Given the description of an element on the screen output the (x, y) to click on. 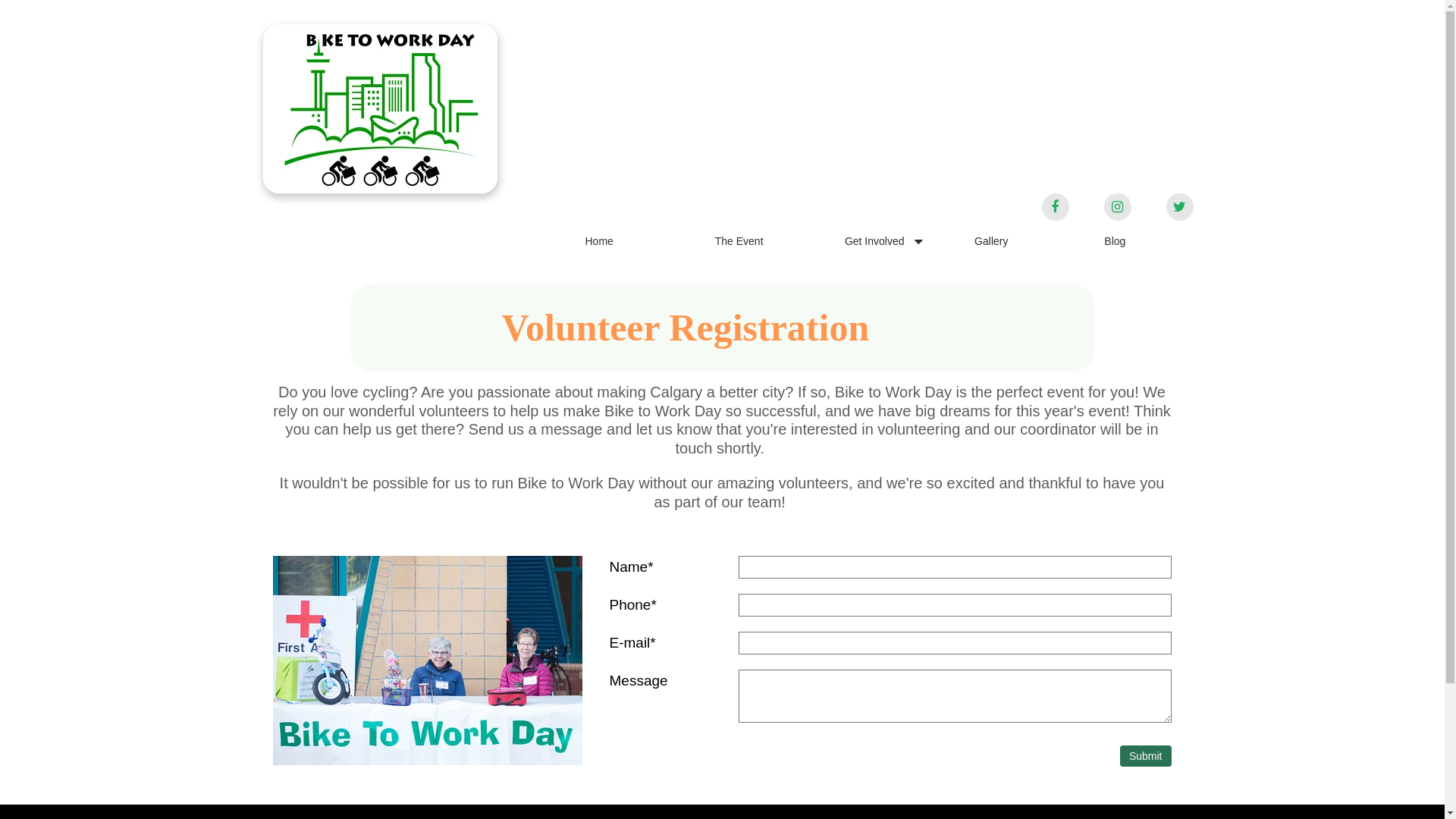
Gallery Element type: text (1012, 243)
Home Element type: text (622, 243)
Blog Element type: text (1142, 243)
The Event Element type: text (753, 243)
Submit Element type: text (1145, 755)
Get Involved Element type: text (882, 243)
